Given the description of an element on the screen output the (x, y) to click on. 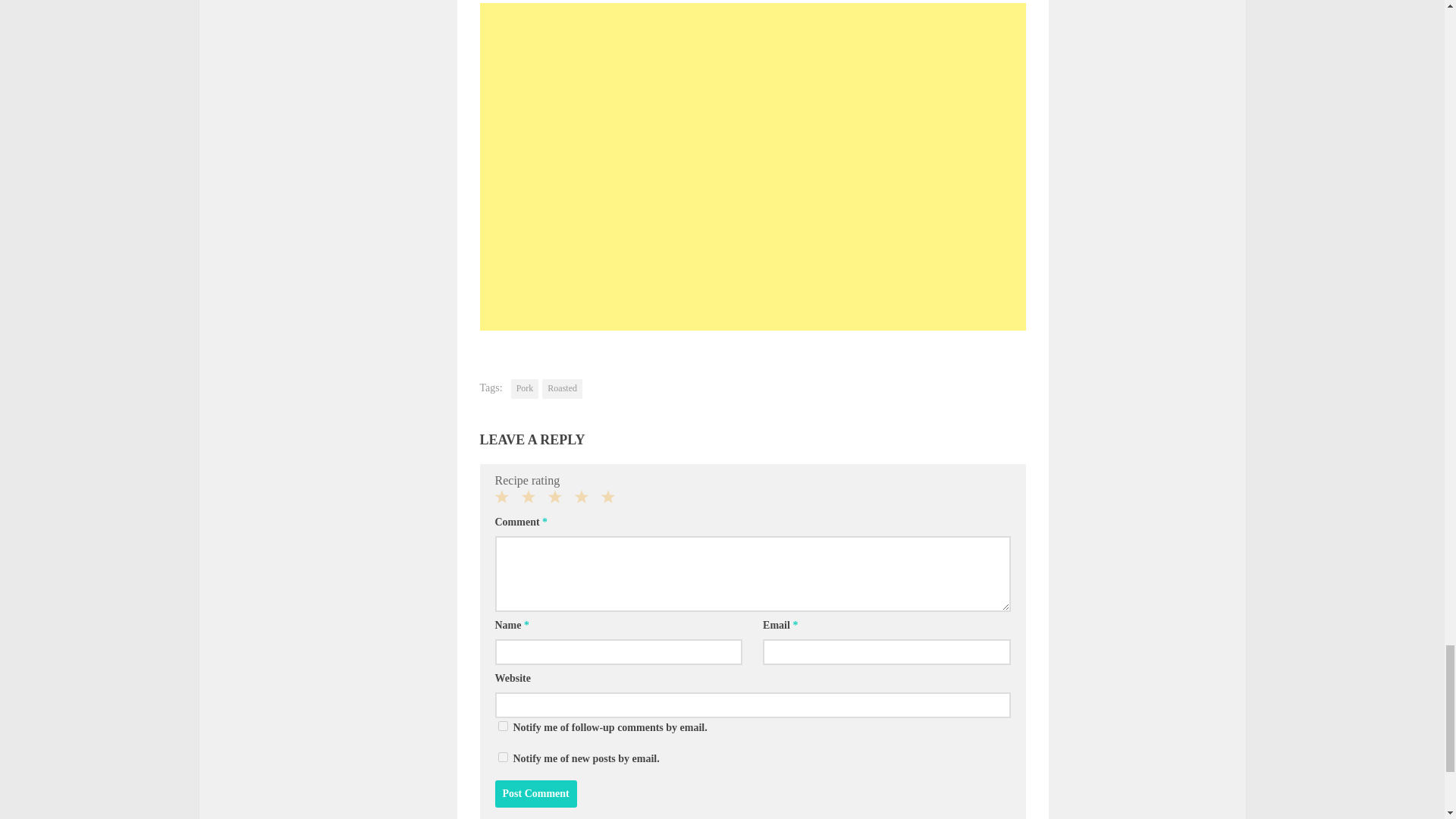
subscribe (501, 726)
subscribe (501, 757)
